Given the description of an element on the screen output the (x, y) to click on. 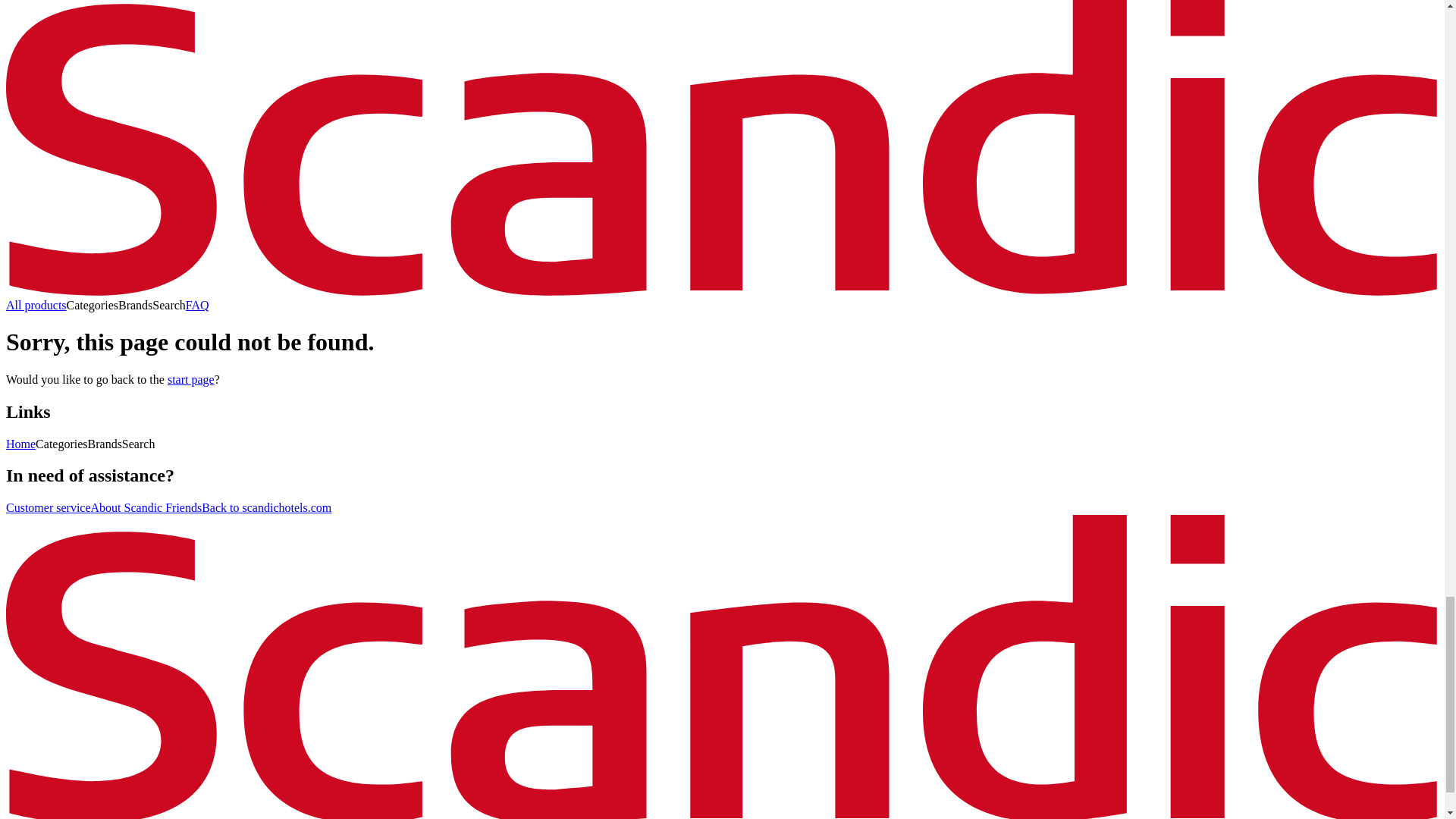
Home (19, 443)
Back to scandichotels.com (266, 507)
FAQ (197, 305)
start page (190, 379)
All products (35, 305)
Customer service (47, 507)
About Scandic Friends (146, 507)
